Given the description of an element on the screen output the (x, y) to click on. 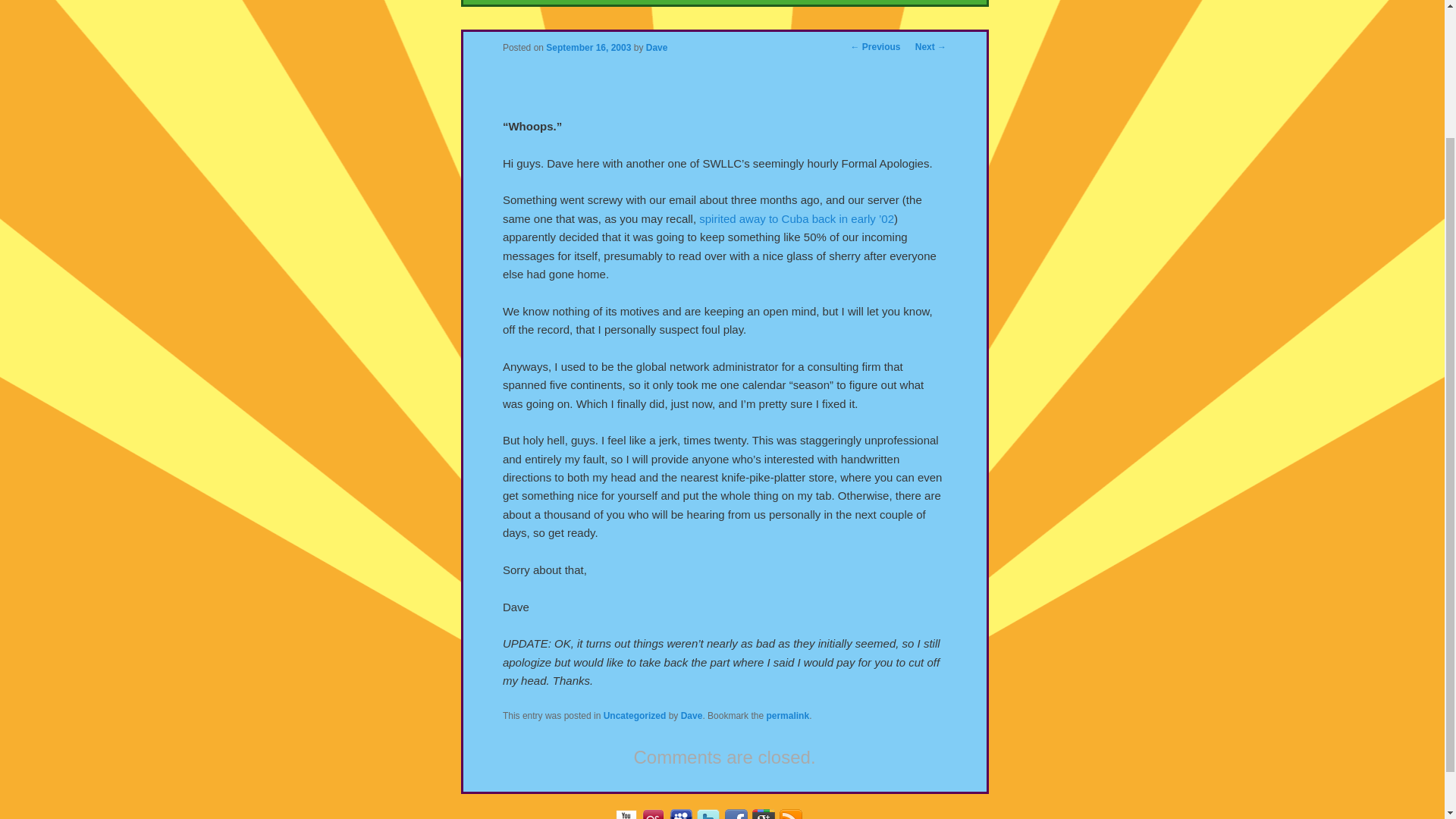
PRESS (769, 2)
September 16, 2003 (588, 47)
Dave (657, 47)
Permalink to  (787, 715)
permalink (787, 715)
12:03 pm (588, 47)
FAQ (701, 2)
View all posts by Dave (657, 47)
Uncategorized (635, 715)
Dave (692, 715)
HOME (560, 2)
MUSIC (634, 2)
LIVE (839, 2)
